Given the description of an element on the screen output the (x, y) to click on. 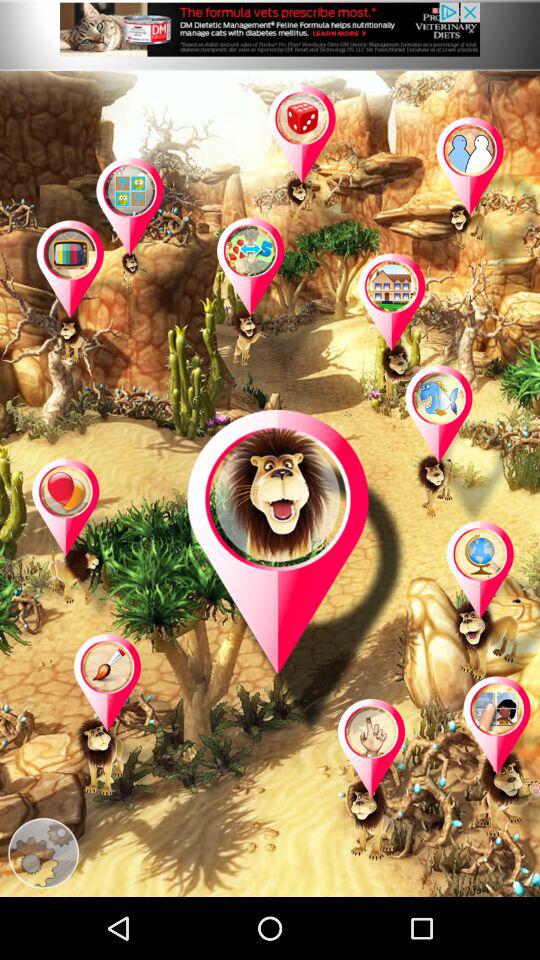
game page (91, 302)
